Given the description of an element on the screen output the (x, y) to click on. 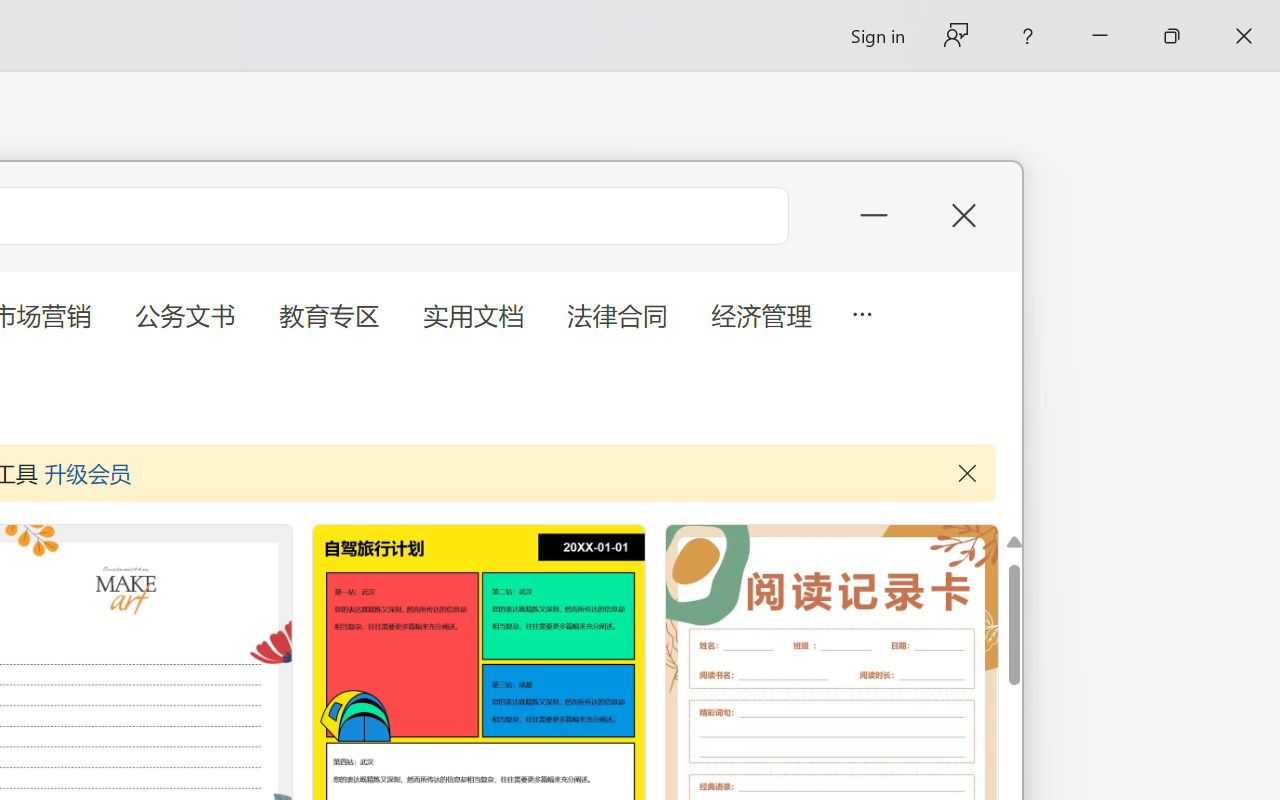
Sign in (875, 35)
5 more tabs (861, 312)
